Given the description of an element on the screen output the (x, y) to click on. 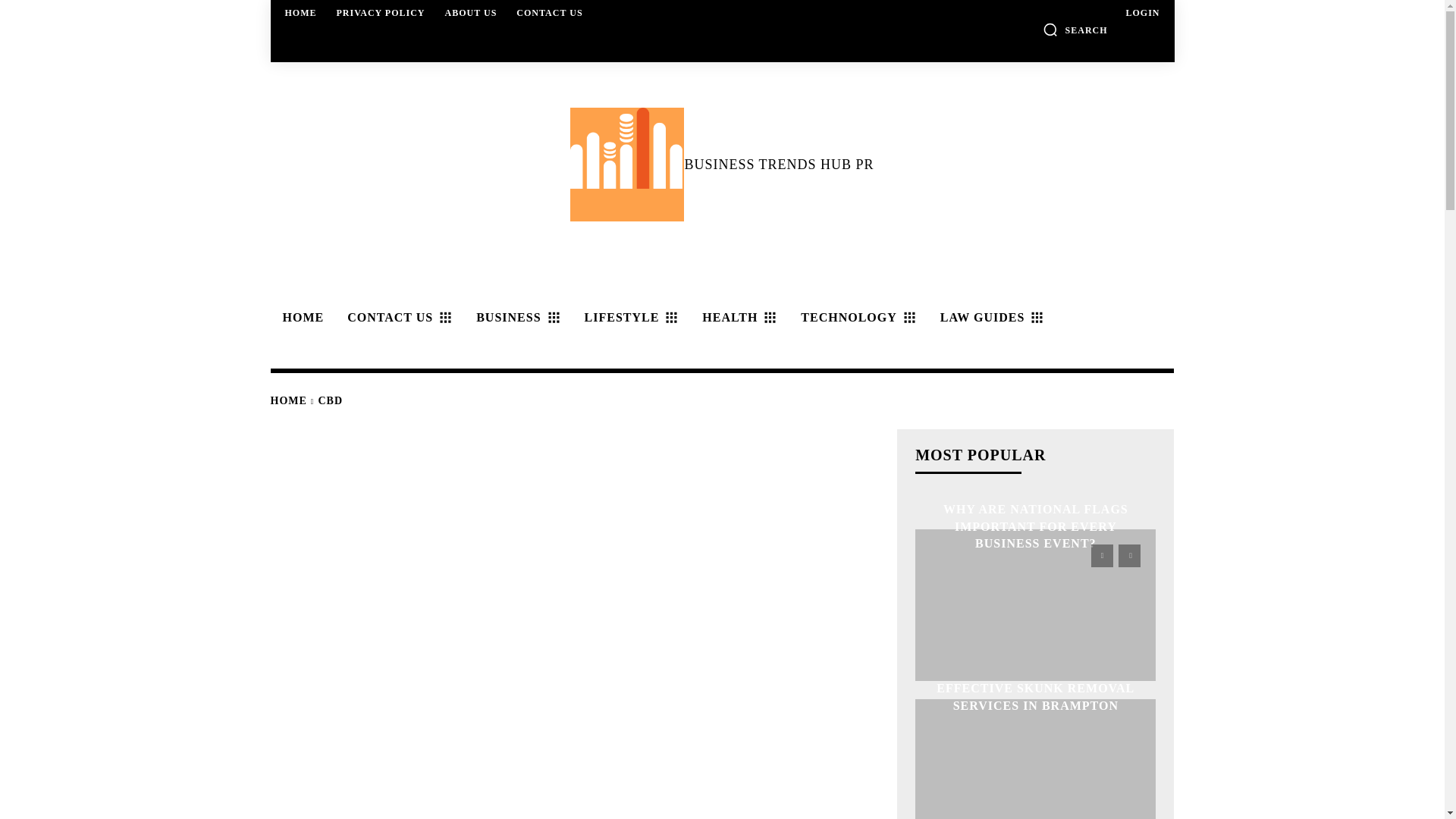
Business Trends Hub (627, 164)
HOME (301, 12)
LOGIN (1141, 12)
HOME (300, 317)
View all posts in CBD (330, 400)
PRIVACY POLICY (380, 12)
ABOUT US (471, 12)
SEARCH (1075, 29)
CONTACT US (548, 12)
BUSINESS TRENDS HUB PR (721, 164)
